Given the description of an element on the screen output the (x, y) to click on. 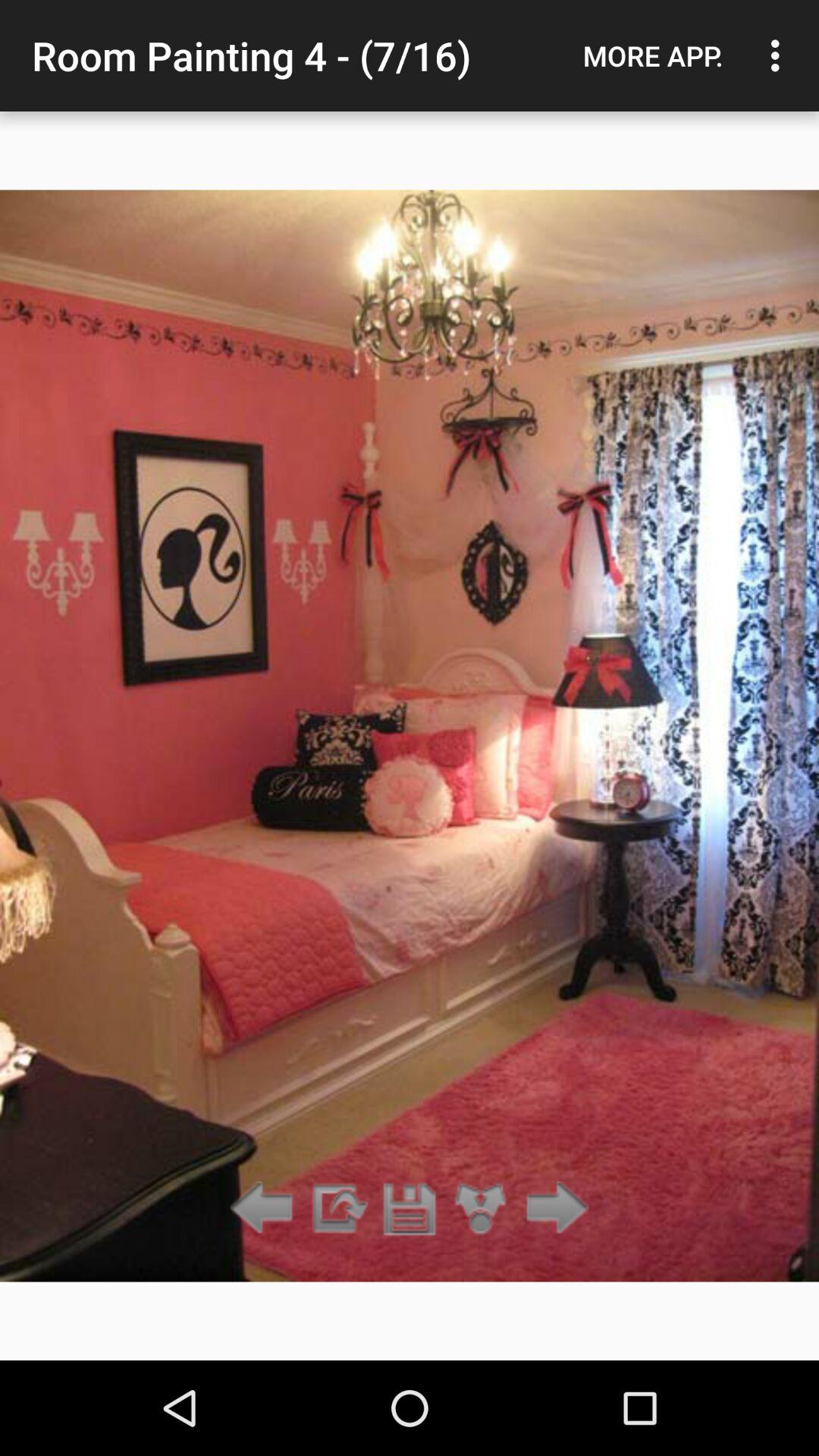
press icon at the bottom right corner (552, 1209)
